Given the description of an element on the screen output the (x, y) to click on. 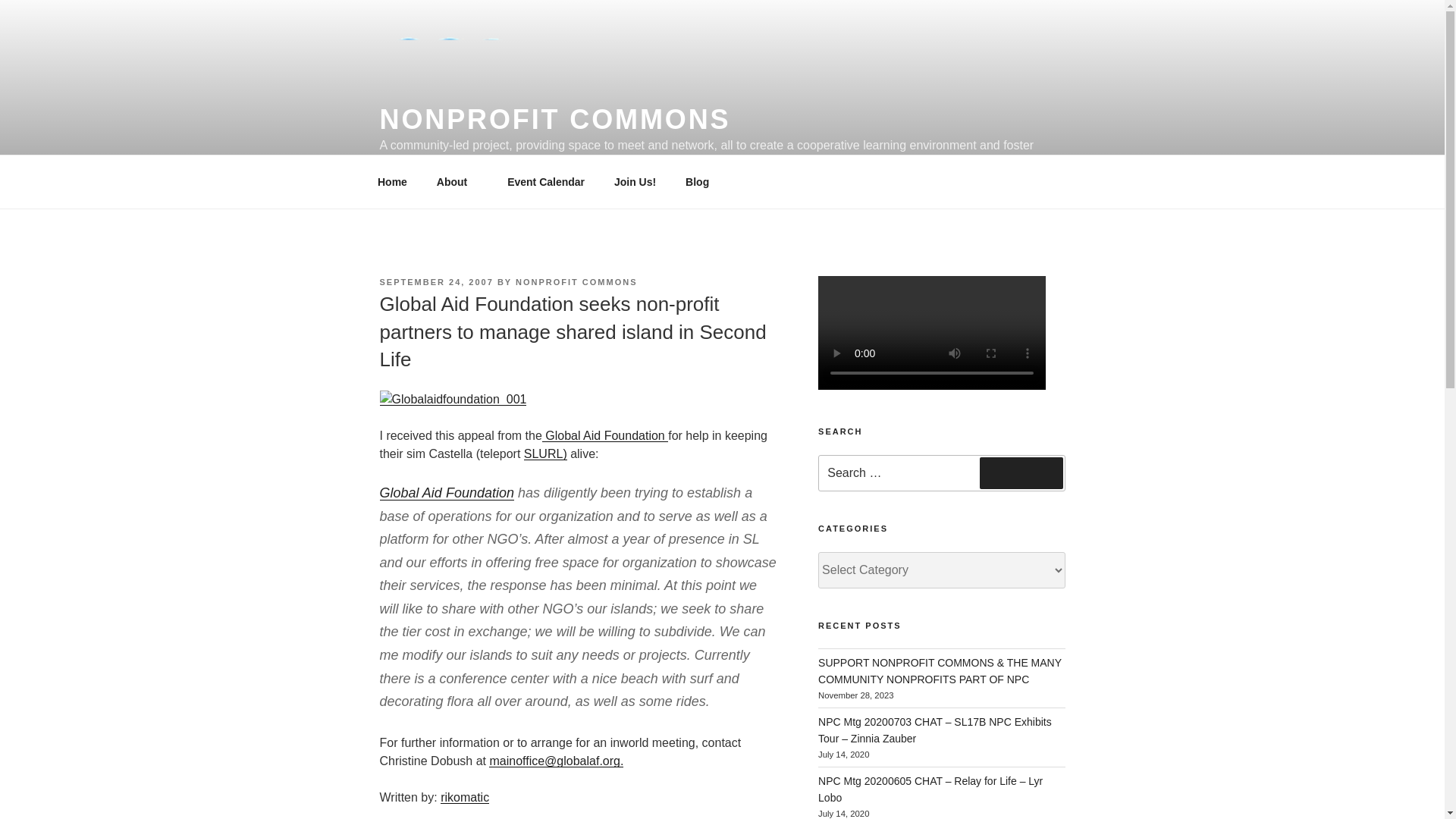
Global Aid Foundation (445, 492)
rikomatic (465, 797)
About (456, 181)
Global Aid Foundation (604, 435)
NONPROFIT COMMONS (554, 119)
Event Calendar (546, 181)
NONPROFIT COMMONS (576, 281)
Blog (697, 181)
SEPTEMBER 24, 2007 (435, 281)
Search (1020, 472)
